Given the description of an element on the screen output the (x, y) to click on. 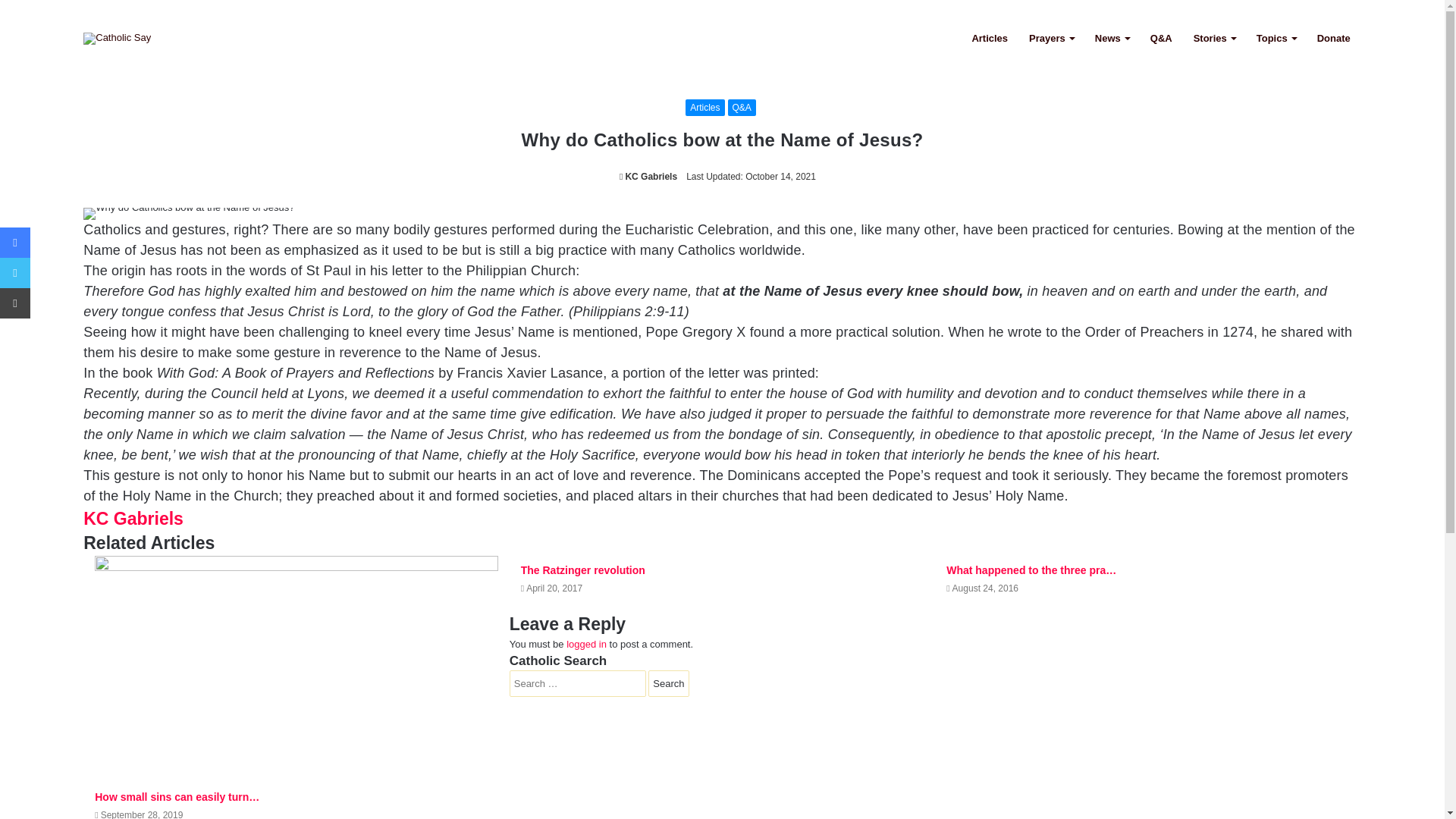
KC Gabriels (132, 518)
Print (15, 303)
Search (667, 683)
KC Gabriels (648, 176)
Articles (704, 107)
KC Gabriels (648, 176)
Catholic Say (116, 37)
Search (667, 683)
Twitter (15, 272)
Facebook (15, 242)
